Given the description of an element on the screen output the (x, y) to click on. 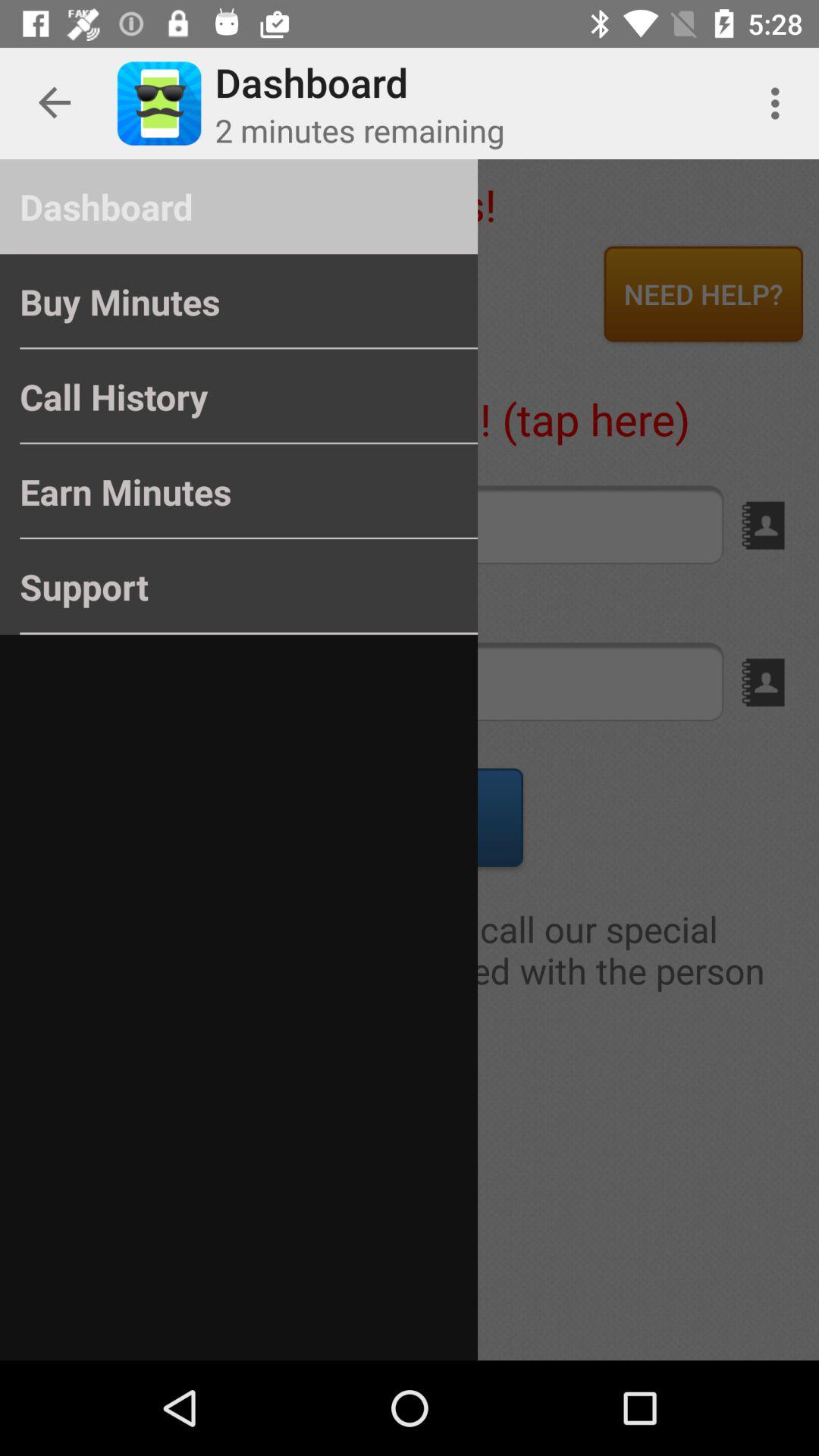
click on the buy minutes (185, 288)
